Given the description of an element on the screen output the (x, y) to click on. 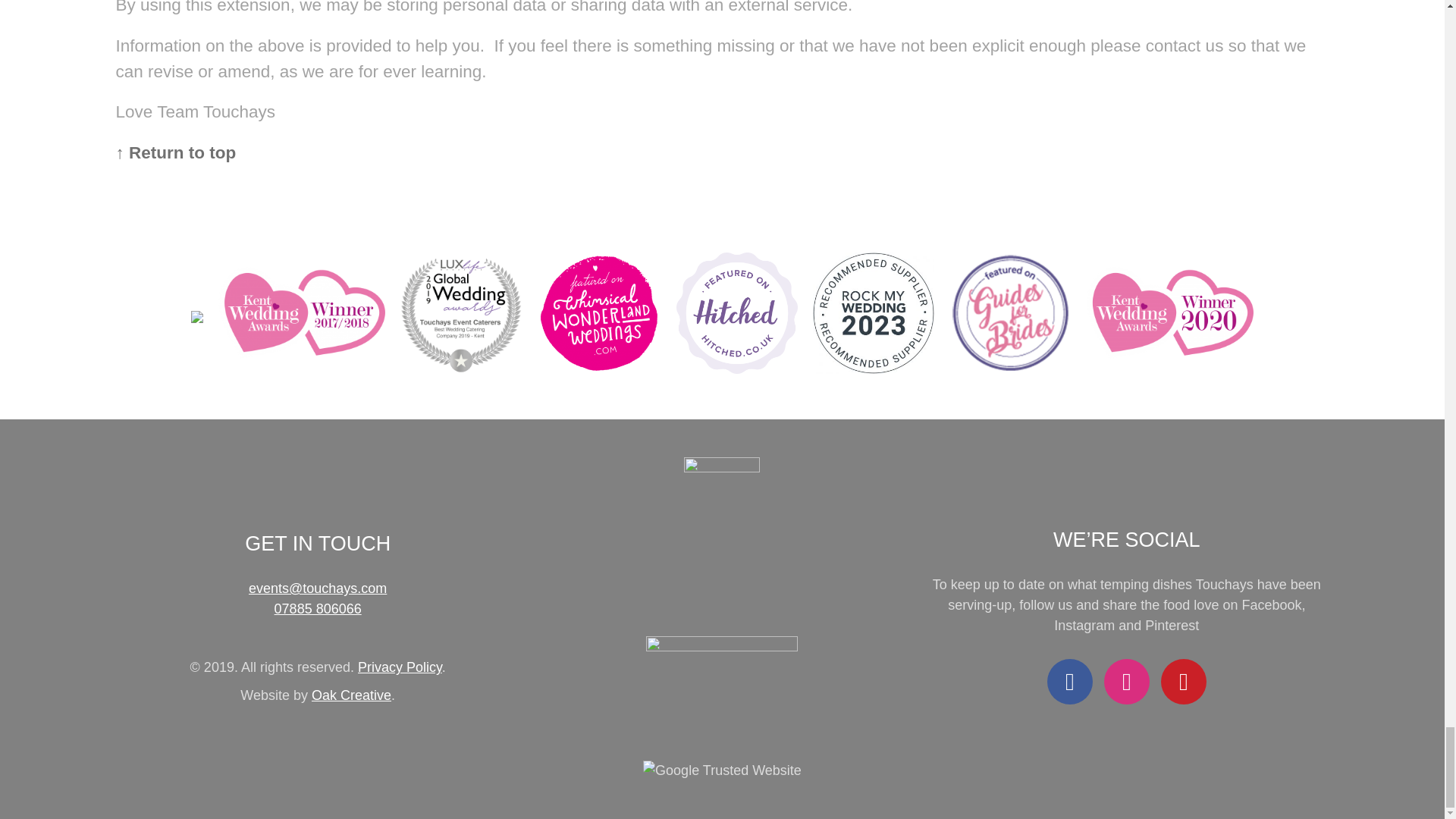
Oak Creative (351, 694)
07885 806066 (318, 608)
Pinterest (1183, 681)
Instagram (1126, 681)
Privacy Policy (400, 667)
Web Design Kent (351, 694)
Facebook (1069, 681)
